Given the description of an element on the screen output the (x, y) to click on. 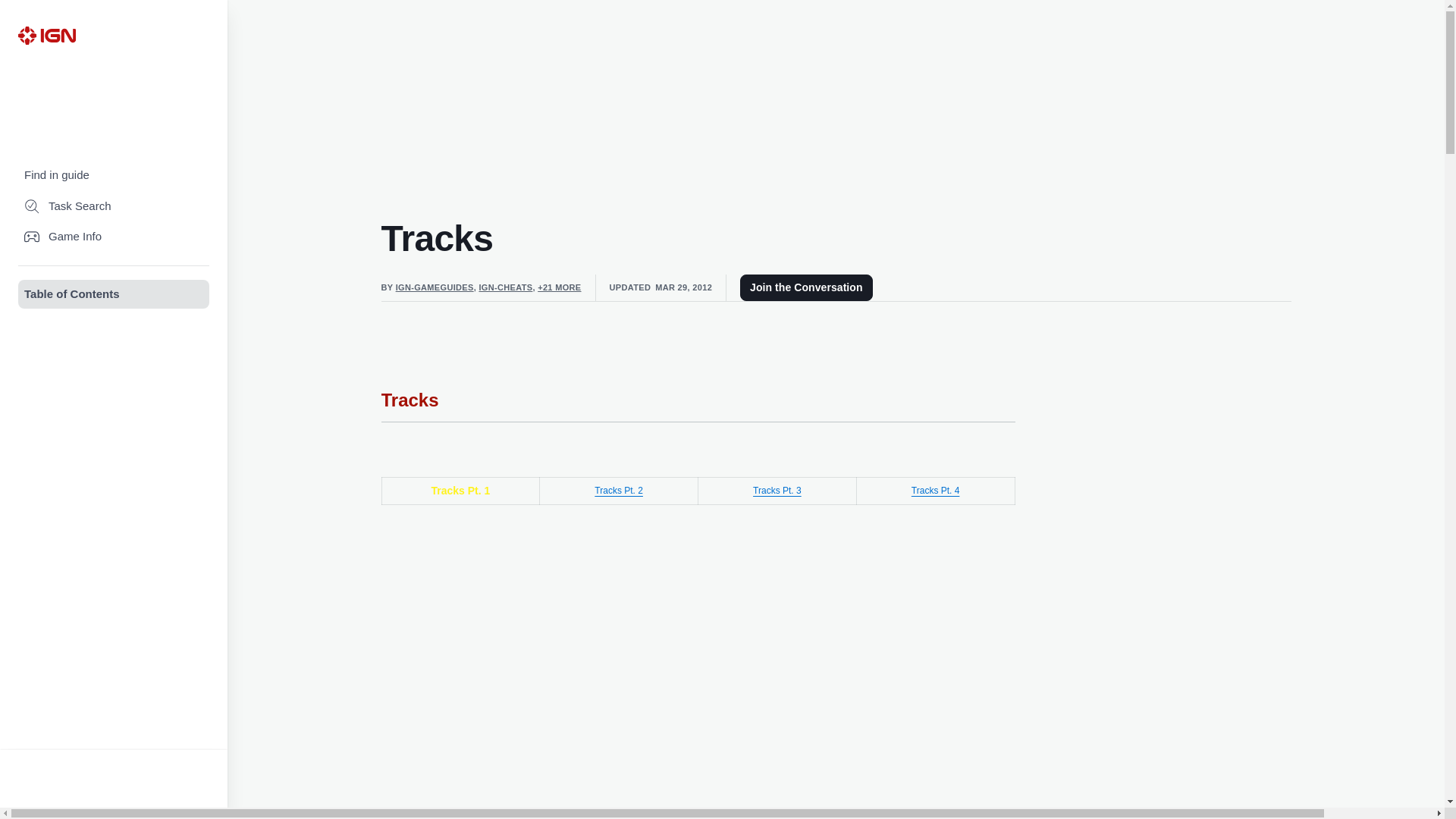
Find in guide (113, 175)
Task Search (113, 206)
Find in guide (113, 175)
Game Info (113, 236)
Join the Conversation (805, 287)
Tracks Pt. 4 (935, 490)
Task Search (113, 206)
Game Info (113, 236)
IGN-CHEATS (505, 287)
IGN-GAMEGUIDES (435, 287)
IGN Logo (46, 35)
Table of Contents (113, 294)
Tracks Pt. 2 (618, 490)
Tracks part 2 (618, 490)
Tracks Pt. 3 (777, 490)
